Given the description of an element on the screen output the (x, y) to click on. 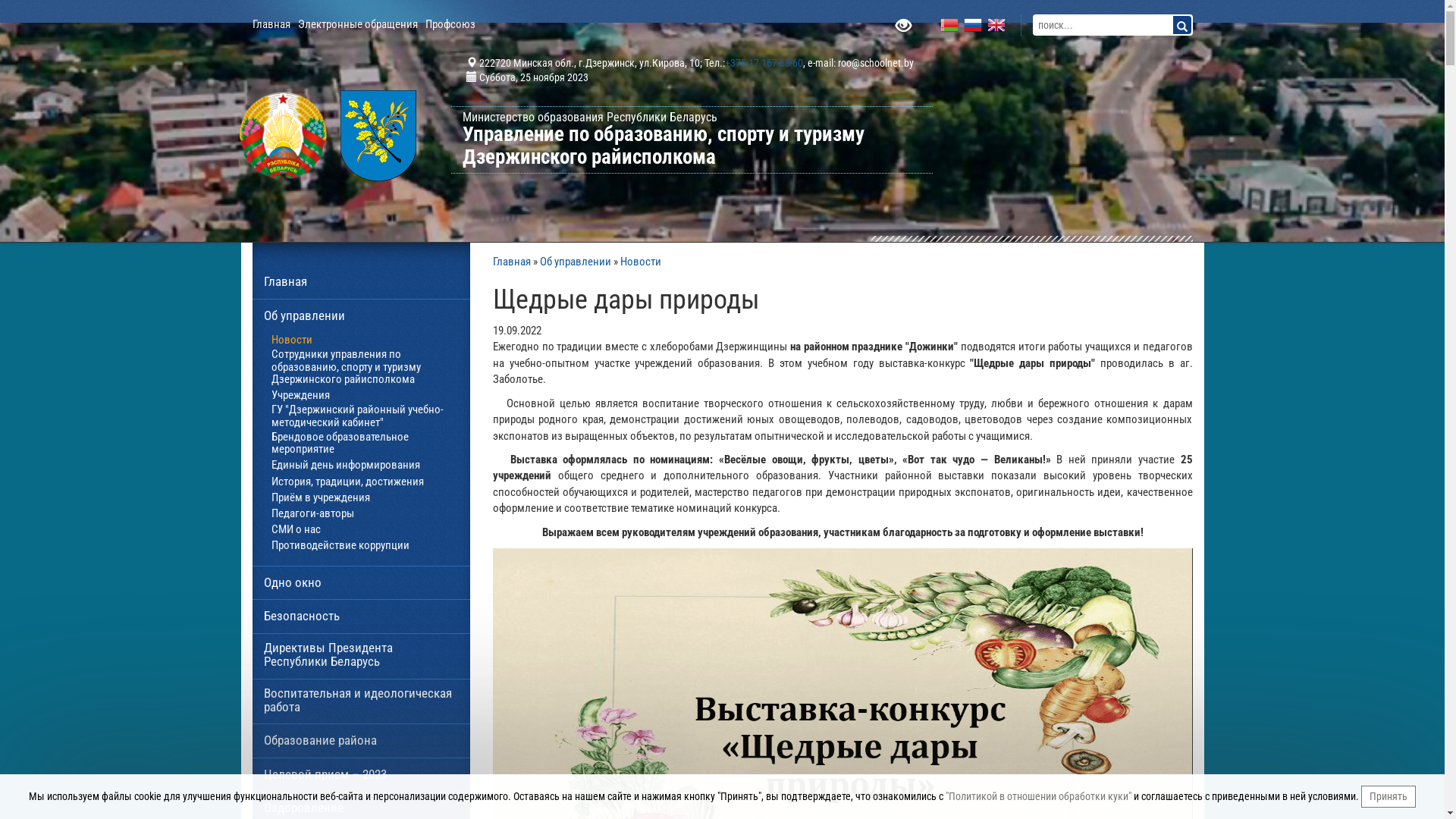
+375 17 167-68-60 Element type: text (763, 62)
